Given the description of an element on the screen output the (x, y) to click on. 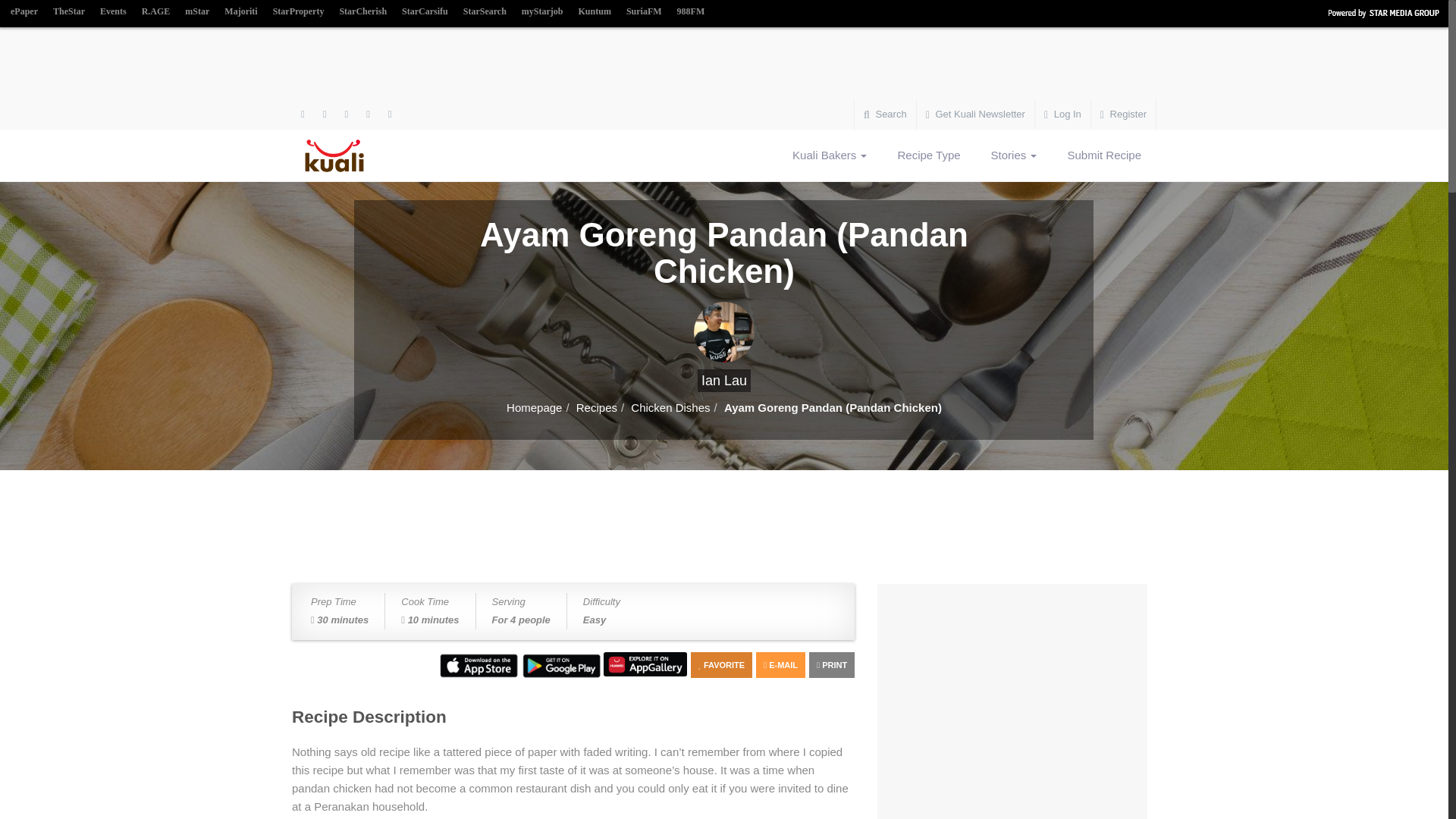
R.AGE (155, 11)
Homepage (534, 407)
Malaysian Food, Recipes, Restaurants (344, 154)
Get Kuali Newsletter (975, 114)
StarSearch (484, 11)
myStarjob (541, 11)
StarProperty (297, 11)
Log In (1062, 114)
ePaper (23, 11)
Kuntum (594, 11)
3rd party ad content (724, 65)
Chicken Dishes (670, 407)
StarCarsifu (424, 11)
988FM (691, 11)
mStar (196, 11)
